Given the description of an element on the screen output the (x, y) to click on. 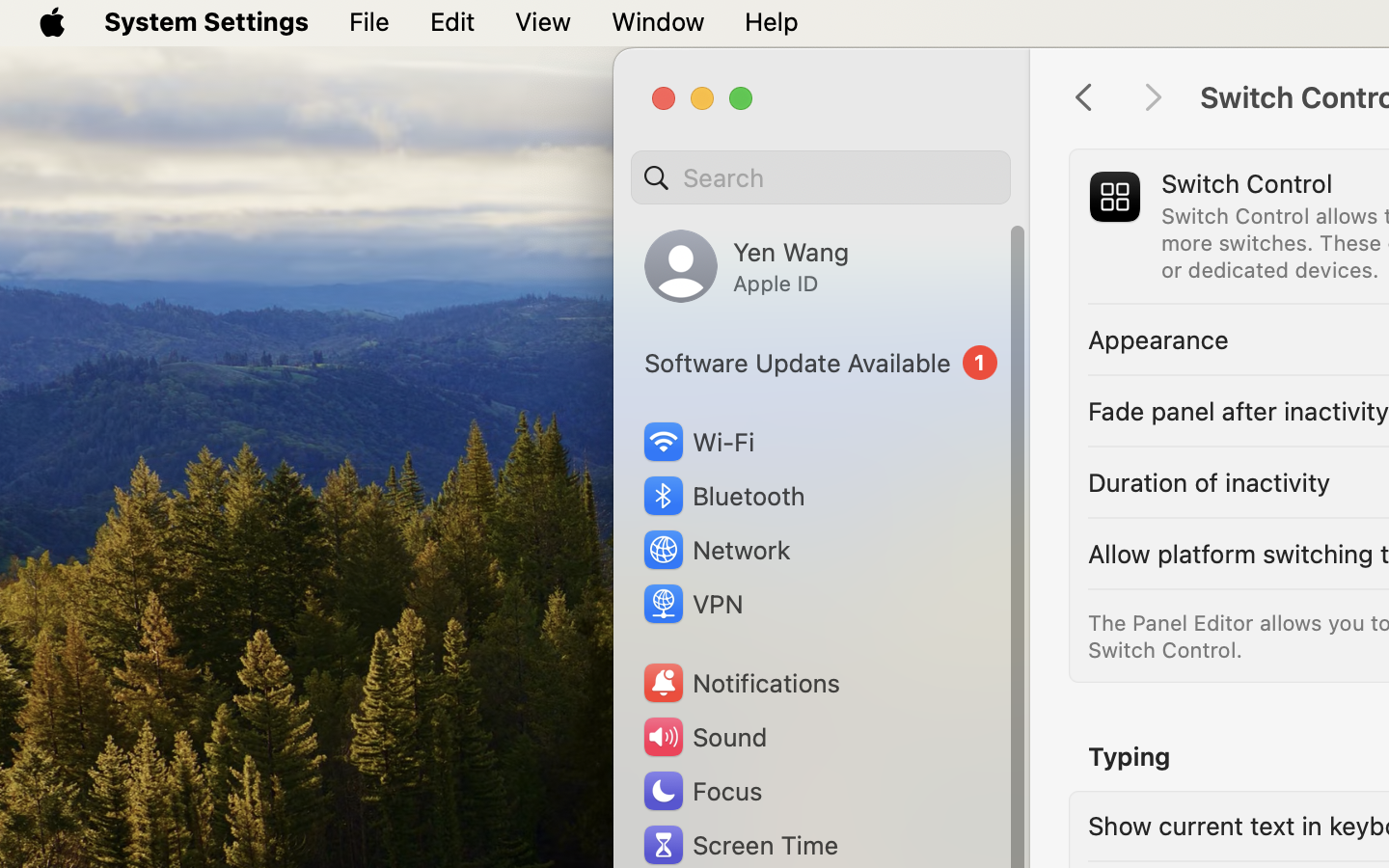
Screen Time Element type: AXStaticText (739, 844)
Focus Element type: AXStaticText (701, 790)
Notifications Element type: AXStaticText (740, 682)
Fade panel after inactivity Element type: AXStaticText (1238, 410)
